Given the description of an element on the screen output the (x, y) to click on. 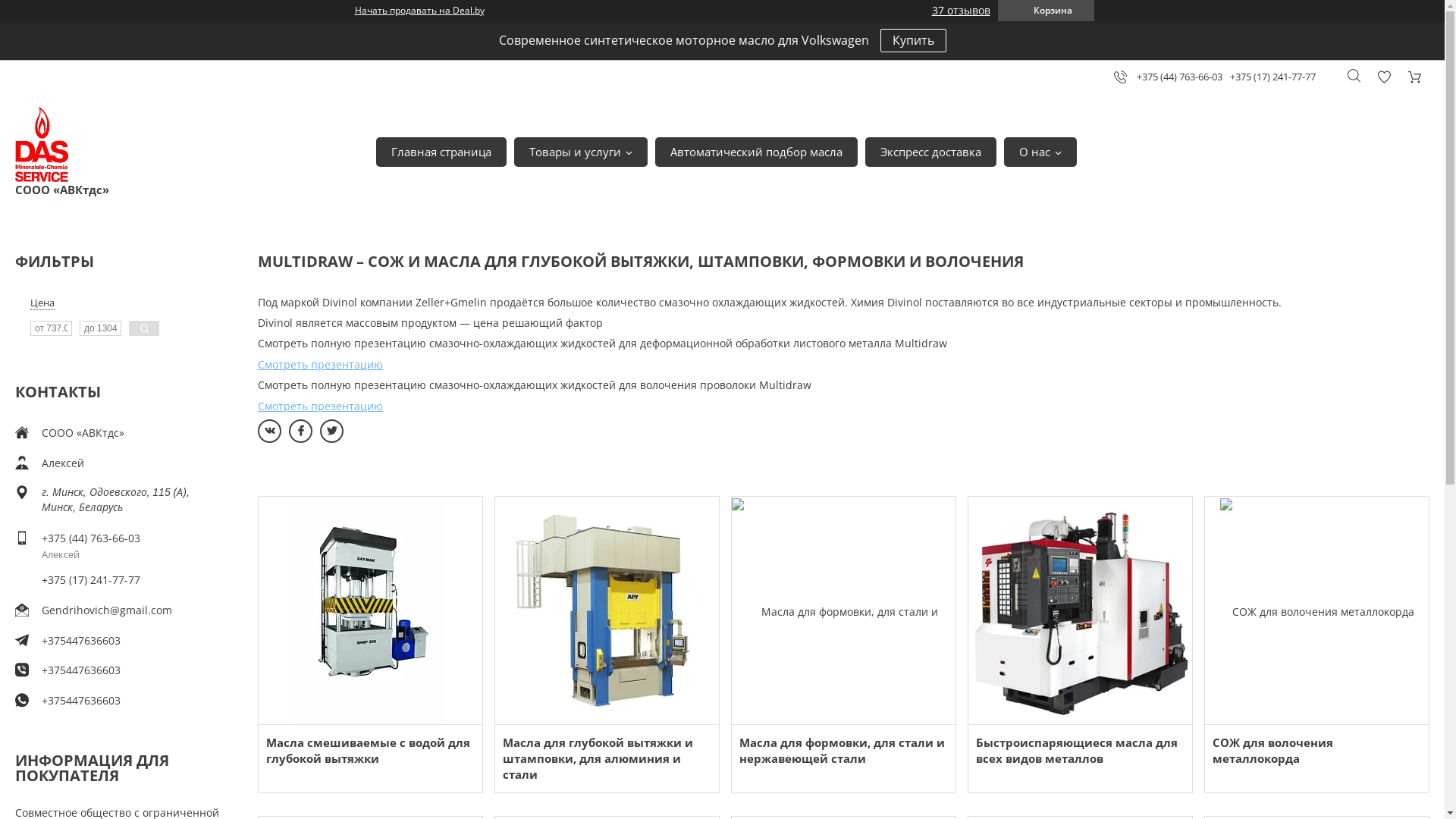
Gendrihovich@gmail.com Element type: text (106, 609)
facebook Element type: hover (300, 430)
twitter Element type: hover (331, 430)
